Given the description of an element on the screen output the (x, y) to click on. 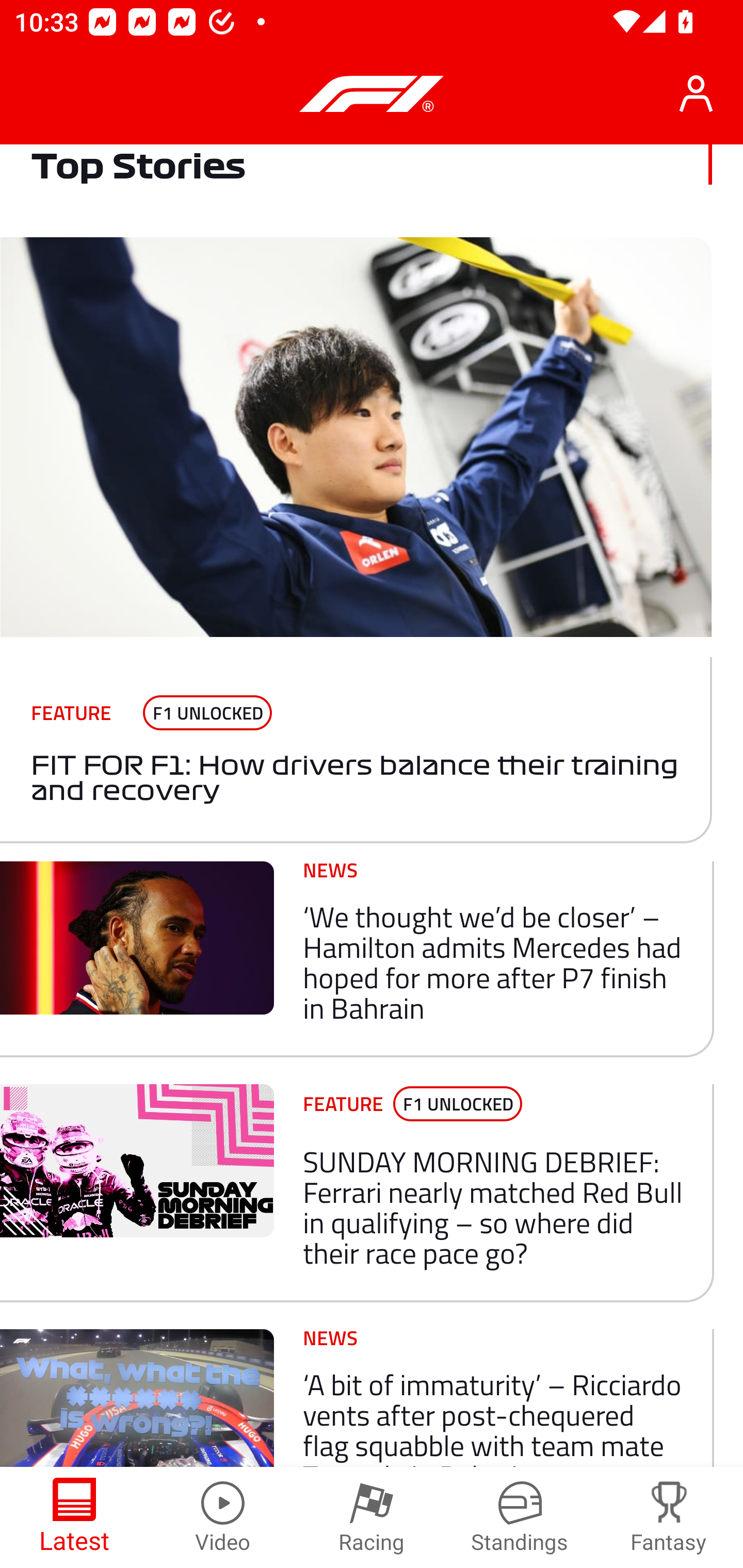
Video (222, 1517)
Racing (371, 1517)
Standings (519, 1517)
Fantasy (668, 1517)
